Given the description of an element on the screen output the (x, y) to click on. 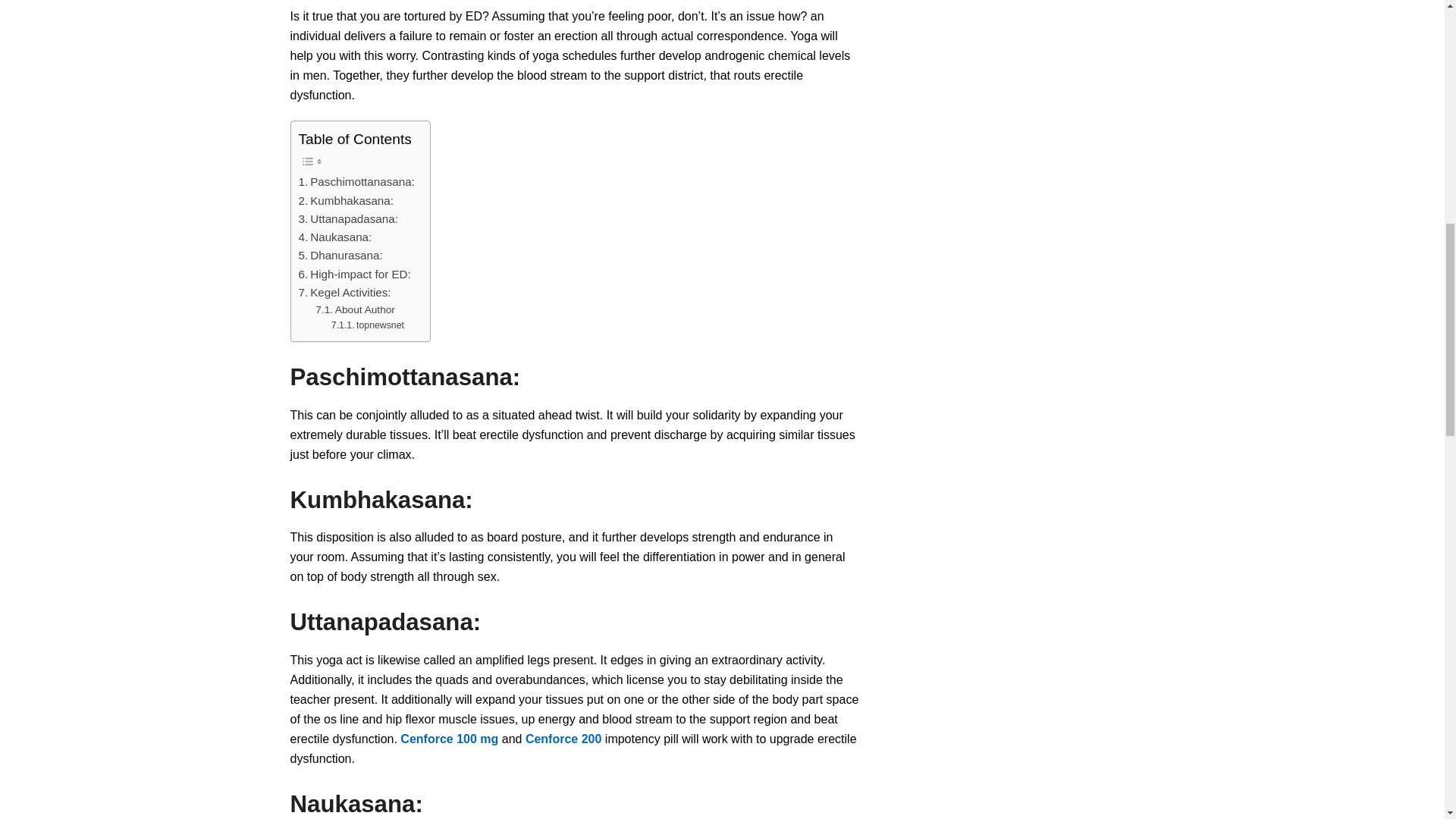
High-impact for ED: (354, 274)
Paschimottanasana: (356, 181)
Kumbhakasana: (345, 200)
Dhanurasana: (340, 255)
Naukasana: (335, 237)
Kegel Activities: (344, 292)
Uttanapadasana: (347, 218)
About Author (354, 310)
